Given the description of an element on the screen output the (x, y) to click on. 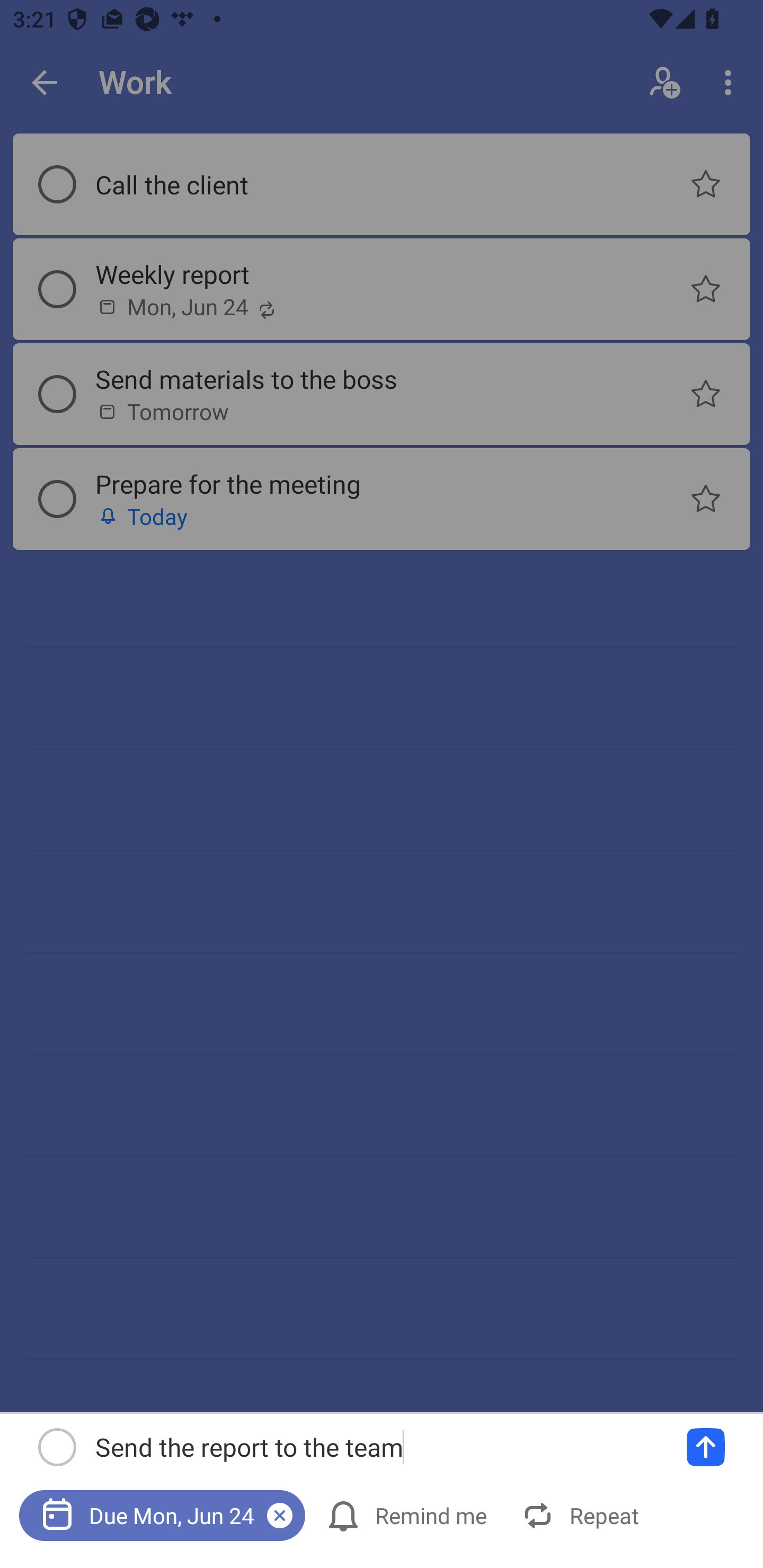
Add a task (705, 1446)
